Given the description of an element on the screen output the (x, y) to click on. 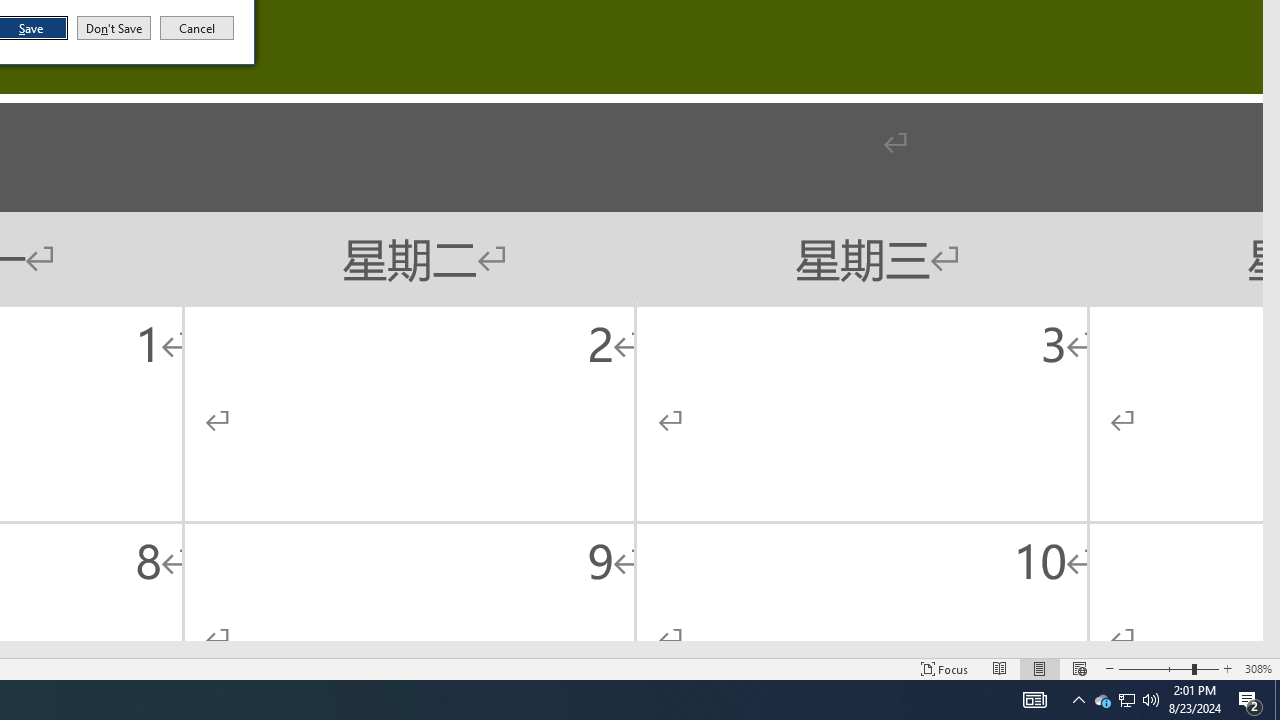
Notification Chevron (1078, 699)
Focus  (944, 668)
Zoom Out (1154, 668)
